Given the description of an element on the screen output the (x, y) to click on. 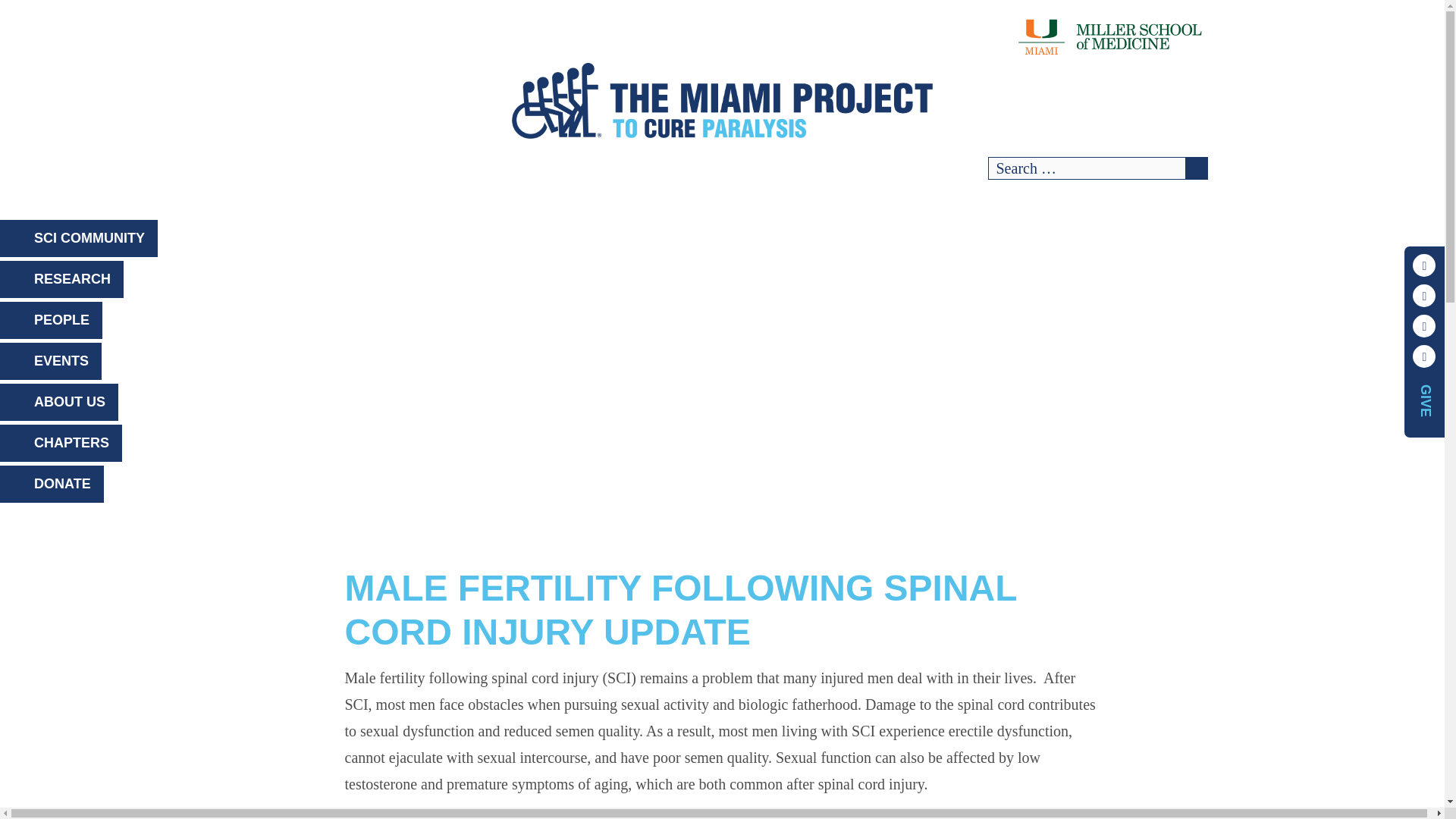
Search (1196, 168)
CHAPTERS (61, 443)
GIVE (1426, 398)
Twitter (1423, 295)
PEOPLE (50, 320)
Search (1196, 168)
EVENTS (50, 361)
YouTube (1423, 325)
Search (1196, 168)
RESEARCH (61, 279)
ABOUT US (58, 402)
DONATE (51, 484)
Facebook (1423, 264)
Instagram (1423, 355)
SCI COMMUNITY (78, 238)
